Given the description of an element on the screen output the (x, y) to click on. 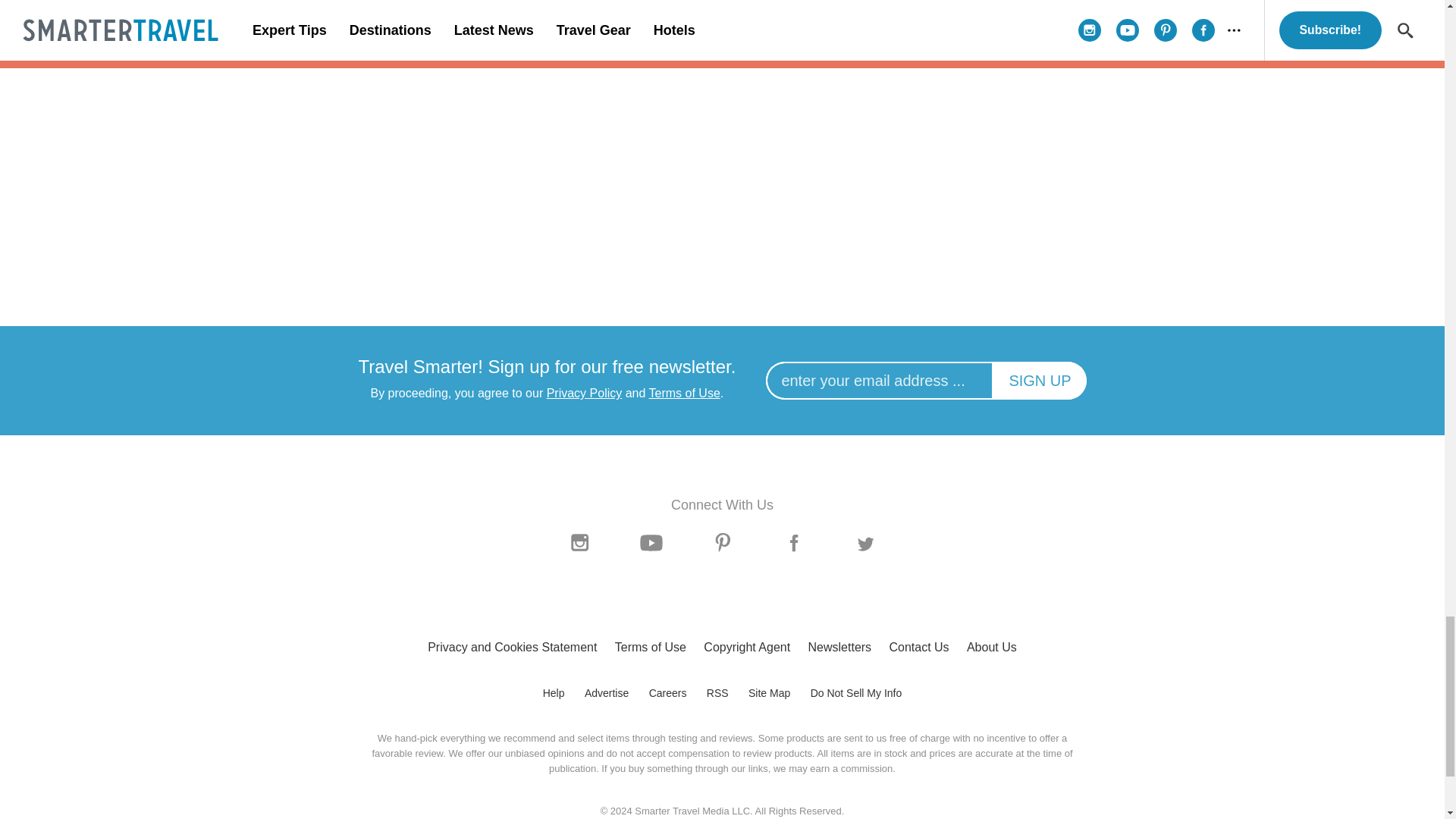
View all posts in Airline Industry News (449, 101)
View all posts in Air Travel (994, 101)
View all posts in Airport (721, 101)
